Given the description of an element on the screen output the (x, y) to click on. 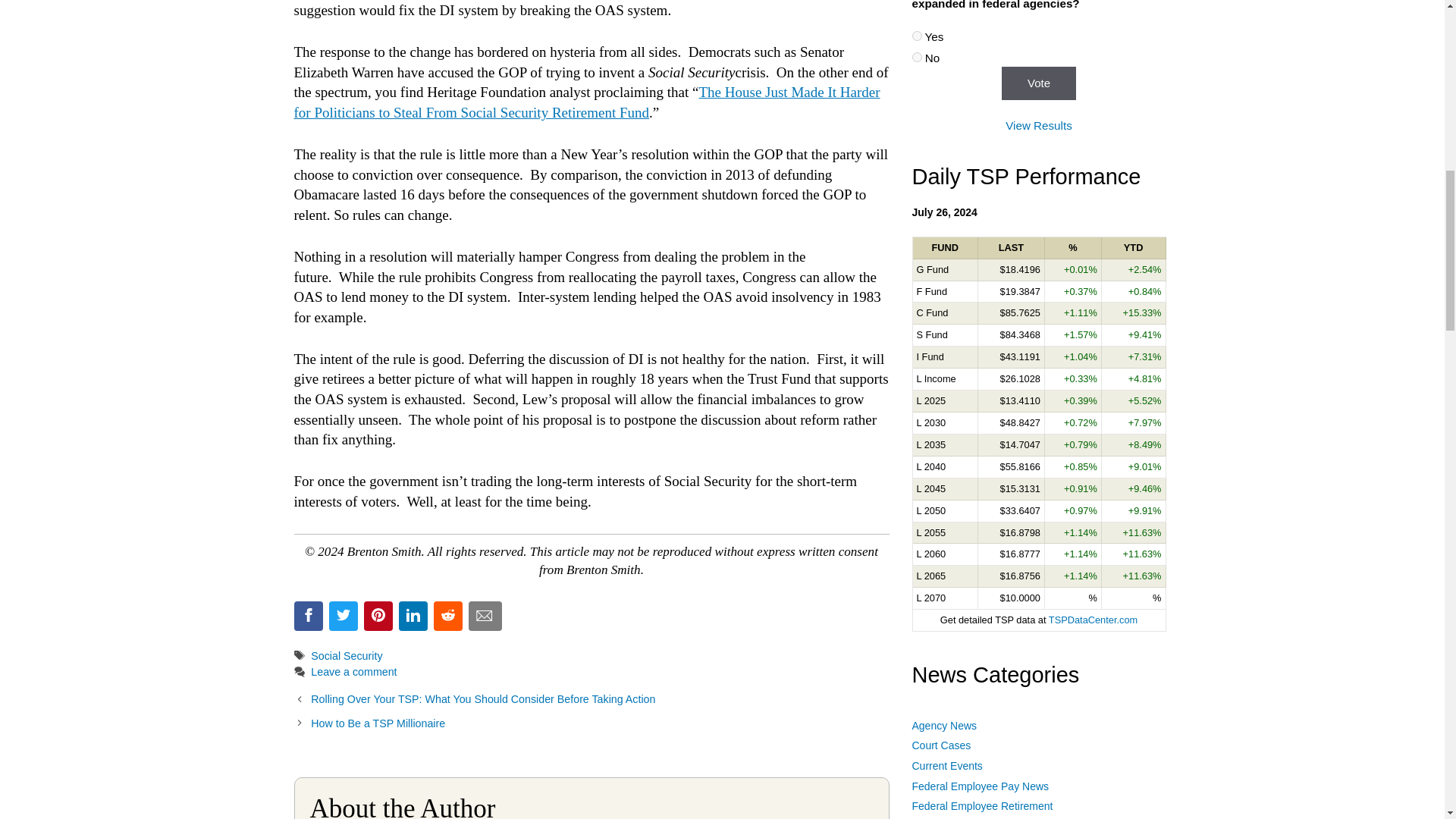
Scroll back to top (1406, 659)
How to Be a TSP Millionaire (378, 723)
Social Security (346, 655)
View Results Of This Poll (1038, 124)
TSPDataCenter.com (1092, 619)
   Vote    (1038, 83)
2321 (916, 57)
Leave a comment (353, 671)
View Results (1038, 124)
2320 (916, 35)
Agency News (943, 725)
